Given the description of an element on the screen output the (x, y) to click on. 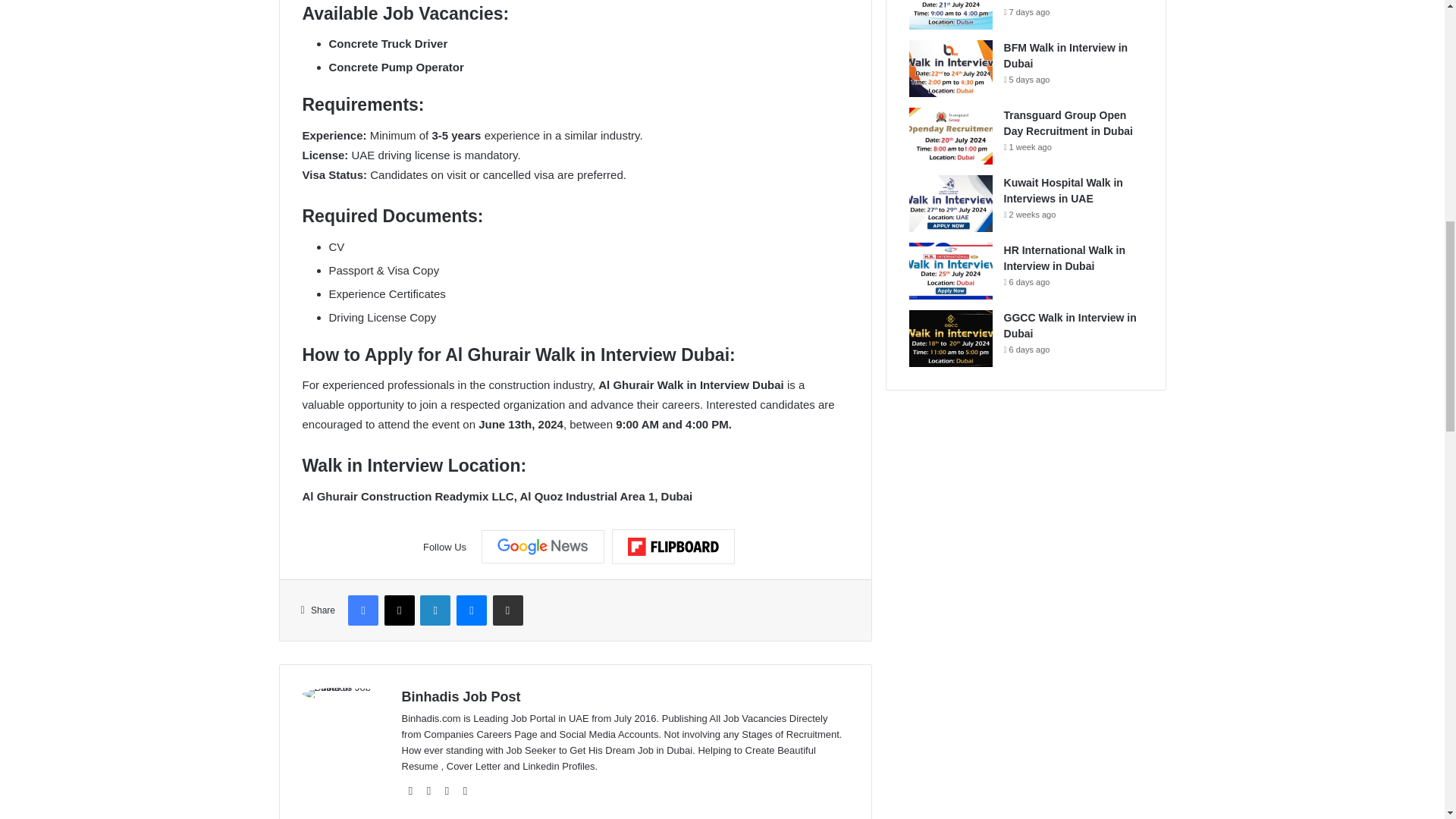
LinkedIn (447, 791)
LinkedIn (434, 610)
LinkedIn (434, 610)
X (399, 610)
Website (410, 791)
X (399, 610)
Facebook (429, 791)
Flipboard (673, 546)
Messenger (471, 610)
Facebook (362, 610)
Google News (542, 546)
Binhadis Job Post (461, 696)
Share via Email (507, 610)
Messenger (471, 610)
Facebook (362, 610)
